Given the description of an element on the screen output the (x, y) to click on. 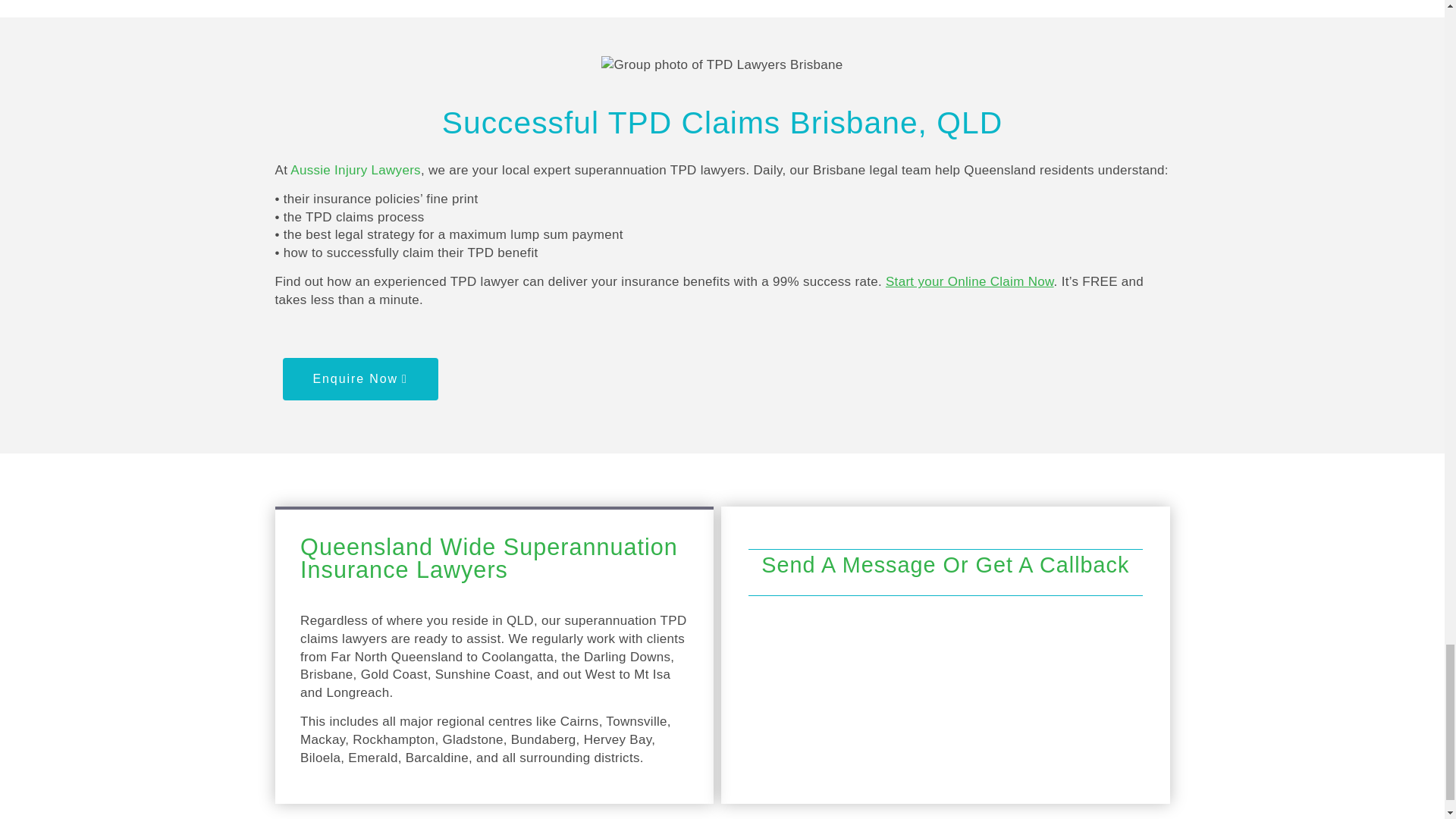
TPD lawyers Brisbane (722, 65)
